Given the description of an element on the screen output the (x, y) to click on. 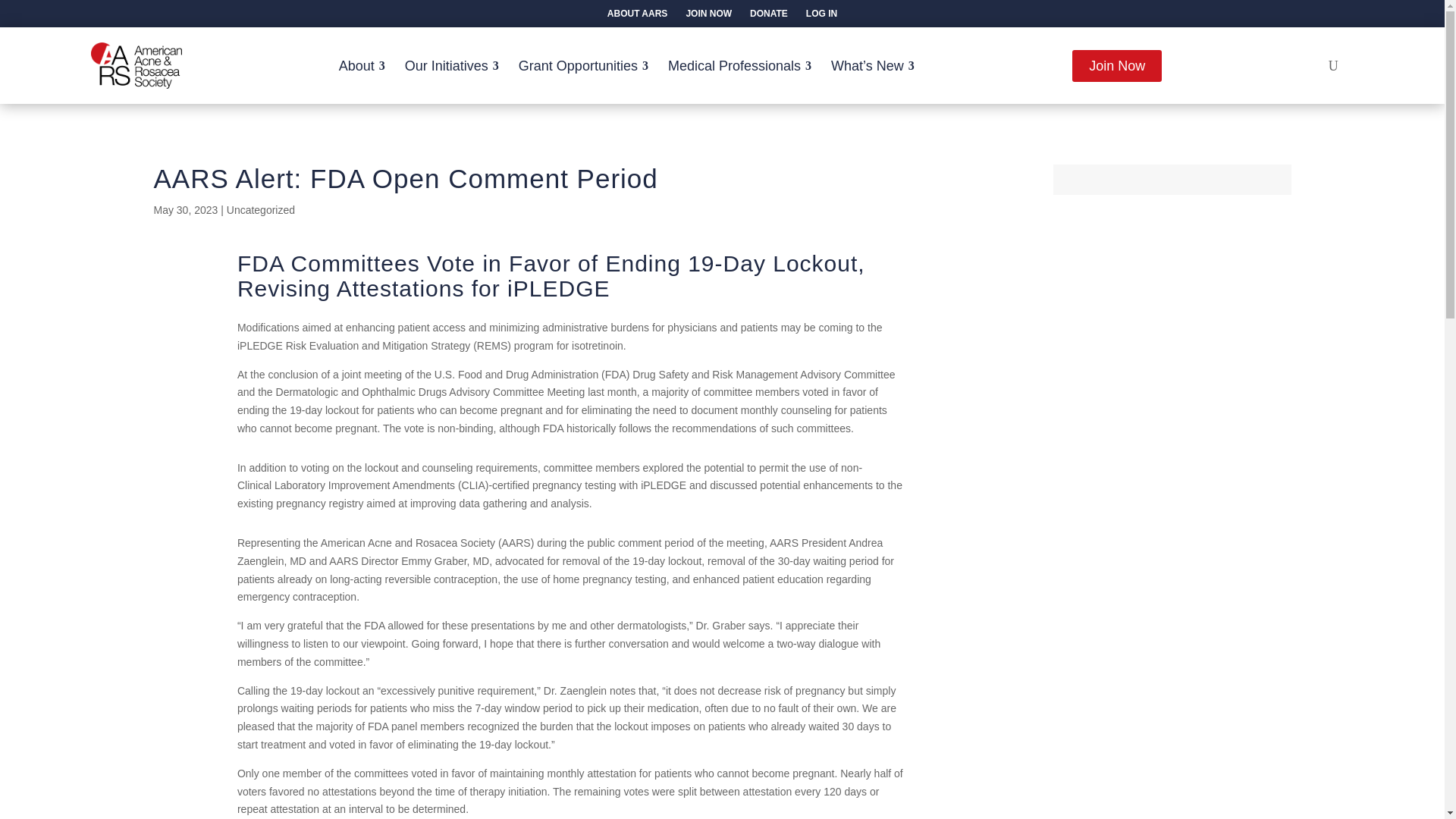
Grant Opportunities (584, 65)
DONATE (768, 13)
About (363, 65)
JOIN NOW (709, 13)
Our Initiatives (452, 65)
ABOUT AARS (637, 13)
LOG IN (820, 13)
Medical Professionals (740, 65)
